Given the description of an element on the screen output the (x, y) to click on. 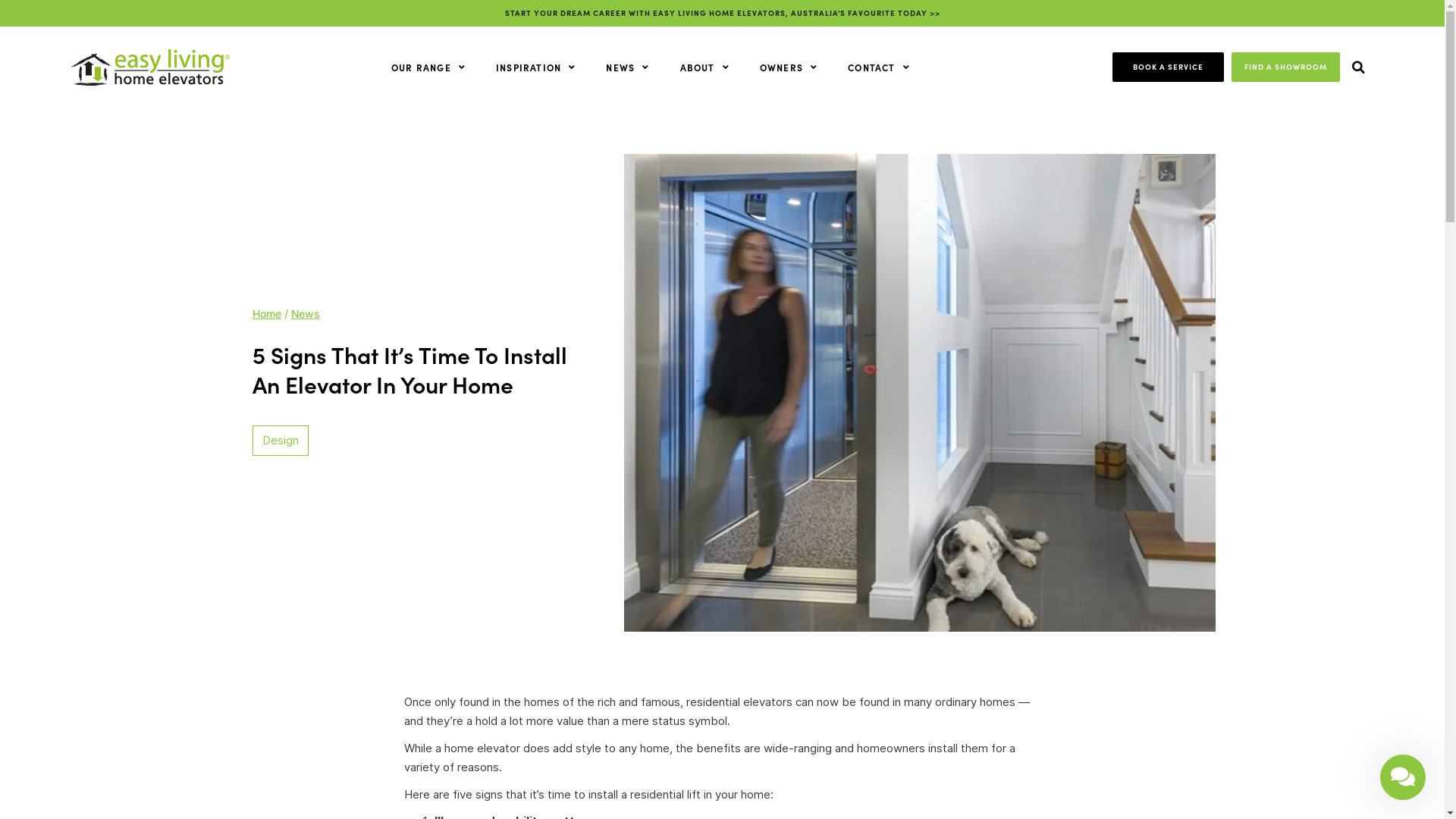
OUR RANGE Element type: text (428, 67)
CONTACT Element type: text (878, 67)
OWNERS Element type: text (788, 67)
Design Element type: text (280, 440)
INSPIRATION Element type: text (535, 67)
FIND A SHOWROOM Element type: text (1285, 66)
ABOUT Element type: text (703, 67)
Home Element type: text (265, 313)
BOOK A SERVICE Element type: text (1167, 66)
NEWS Element type: text (627, 67)
News Element type: text (305, 313)
